Given the description of an element on the screen output the (x, y) to click on. 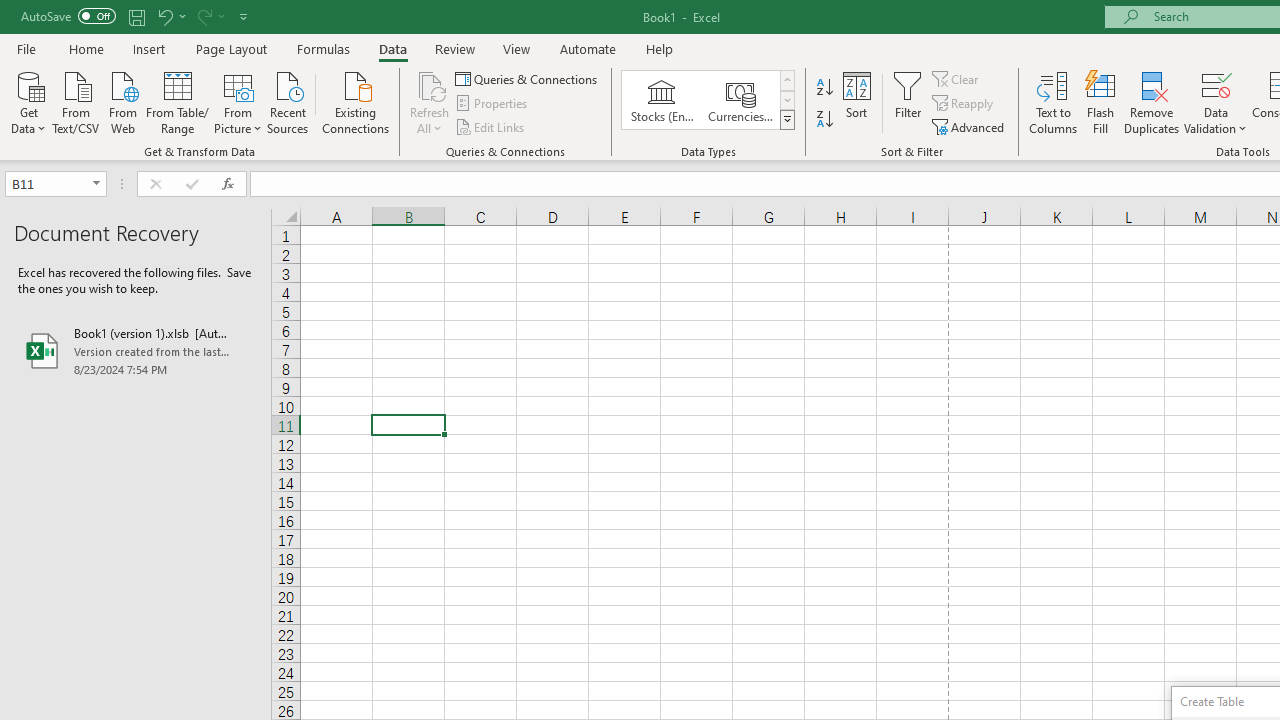
Stocks (English) (662, 100)
Row up (786, 79)
From Table/Range (177, 101)
Advanced... (970, 126)
Get Data (28, 101)
Sort A to Z (824, 87)
From Picture (238, 101)
Sort... (856, 102)
From Web (122, 101)
